Given the description of an element on the screen output the (x, y) to click on. 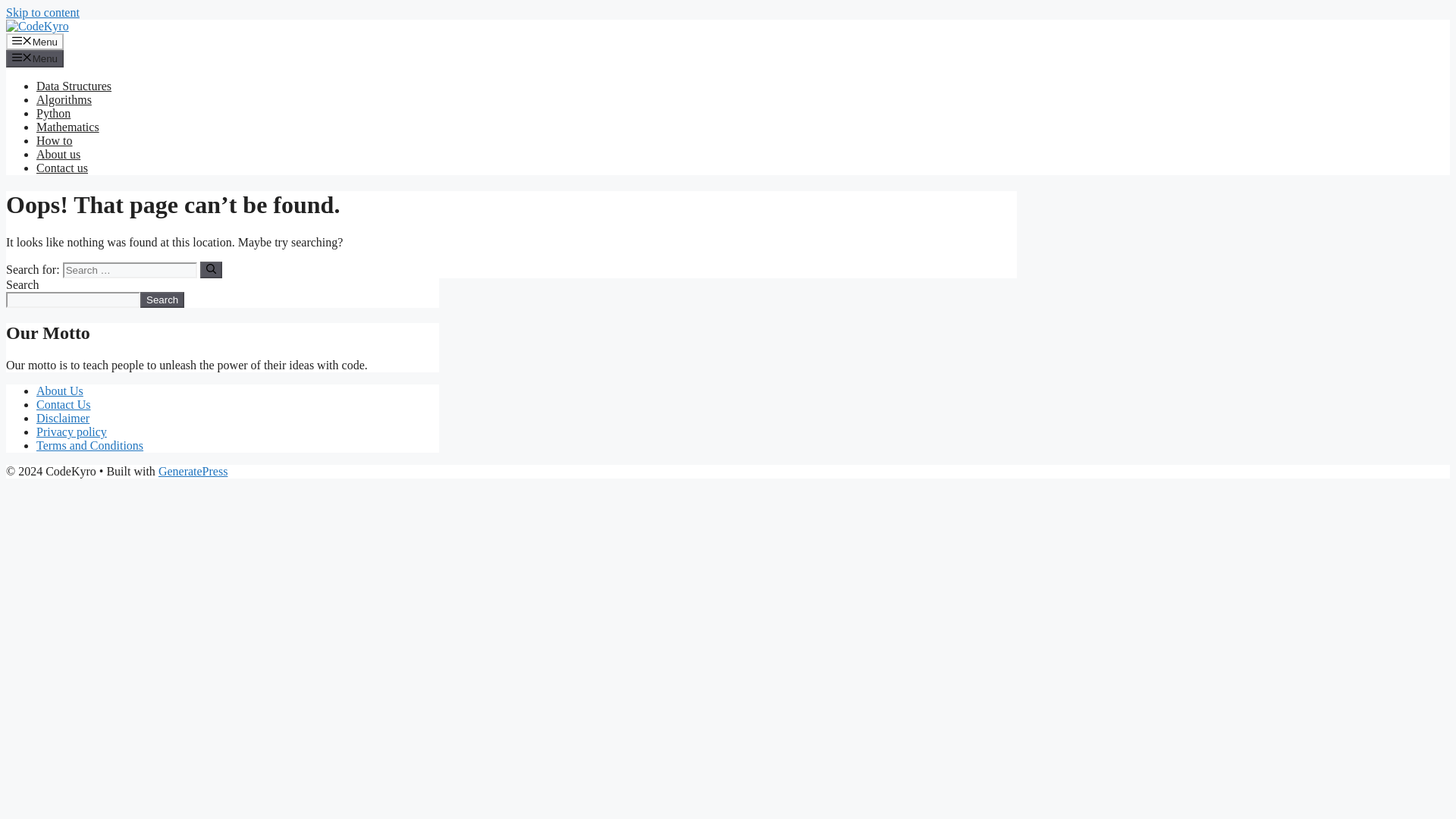
Algorithms (63, 99)
Mathematics (67, 126)
Contact us (61, 167)
Skip to content (42, 11)
Privacy policy (71, 431)
How to (54, 140)
Terms and Conditions (89, 445)
Menu (34, 57)
Data Structures (74, 85)
Contact Us (63, 404)
Search (161, 299)
About us (58, 154)
Skip to content (42, 11)
Menu (34, 41)
About Us (59, 390)
